Given the description of an element on the screen output the (x, y) to click on. 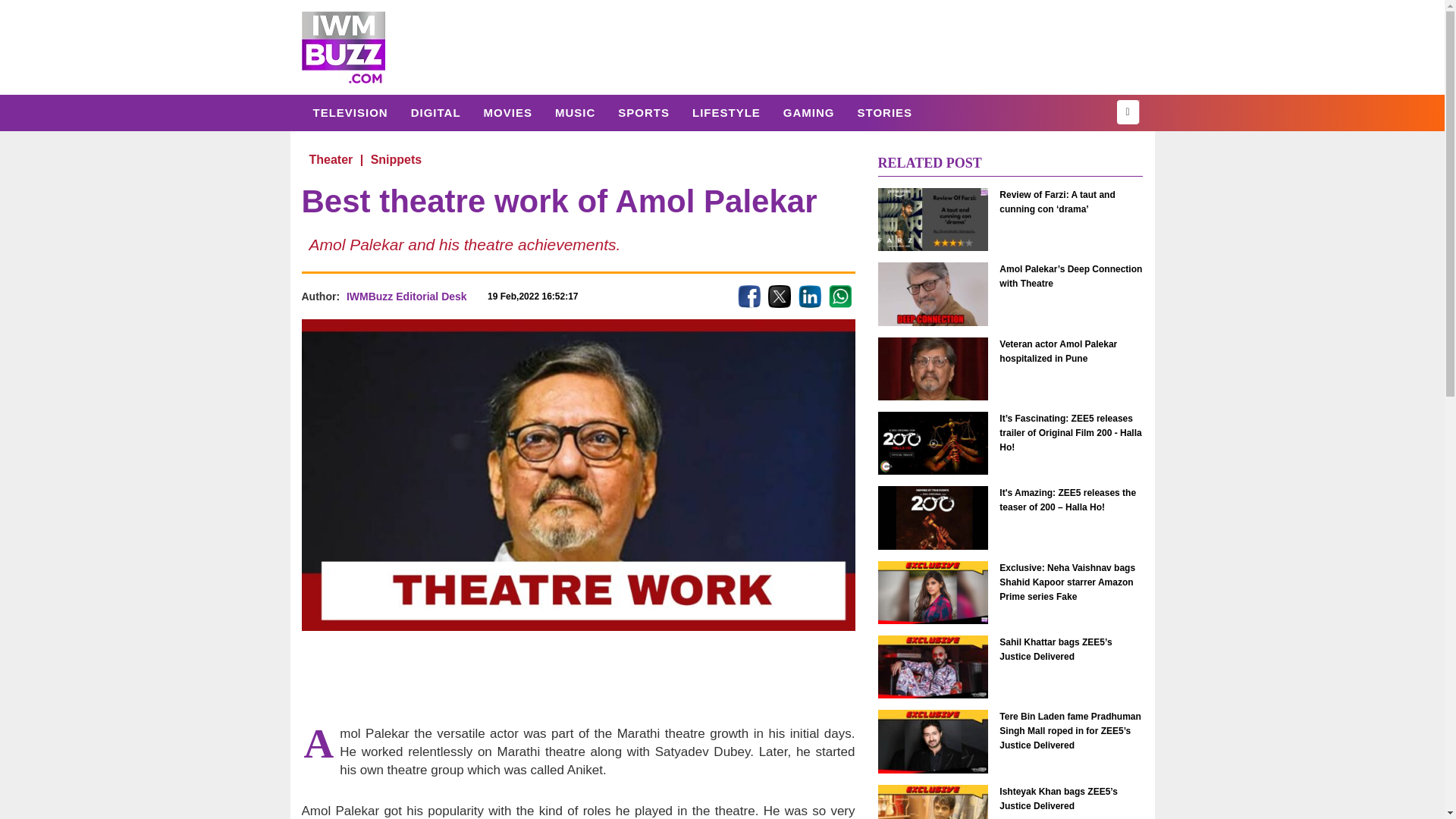
LIFESTYLE (726, 112)
Lifestyle (726, 112)
3rd party ad content (577, 676)
Television (349, 112)
Veteran actor Amol Palekar hospitalized in Pune (932, 368)
Web Stories (884, 112)
Theater (330, 159)
MOVIES (507, 112)
DIGITAL (434, 112)
GAMING (808, 112)
Gaming (808, 112)
IWMBuzz (343, 46)
TELEVISION (349, 112)
Movies (507, 112)
